Given the description of an element on the screen output the (x, y) to click on. 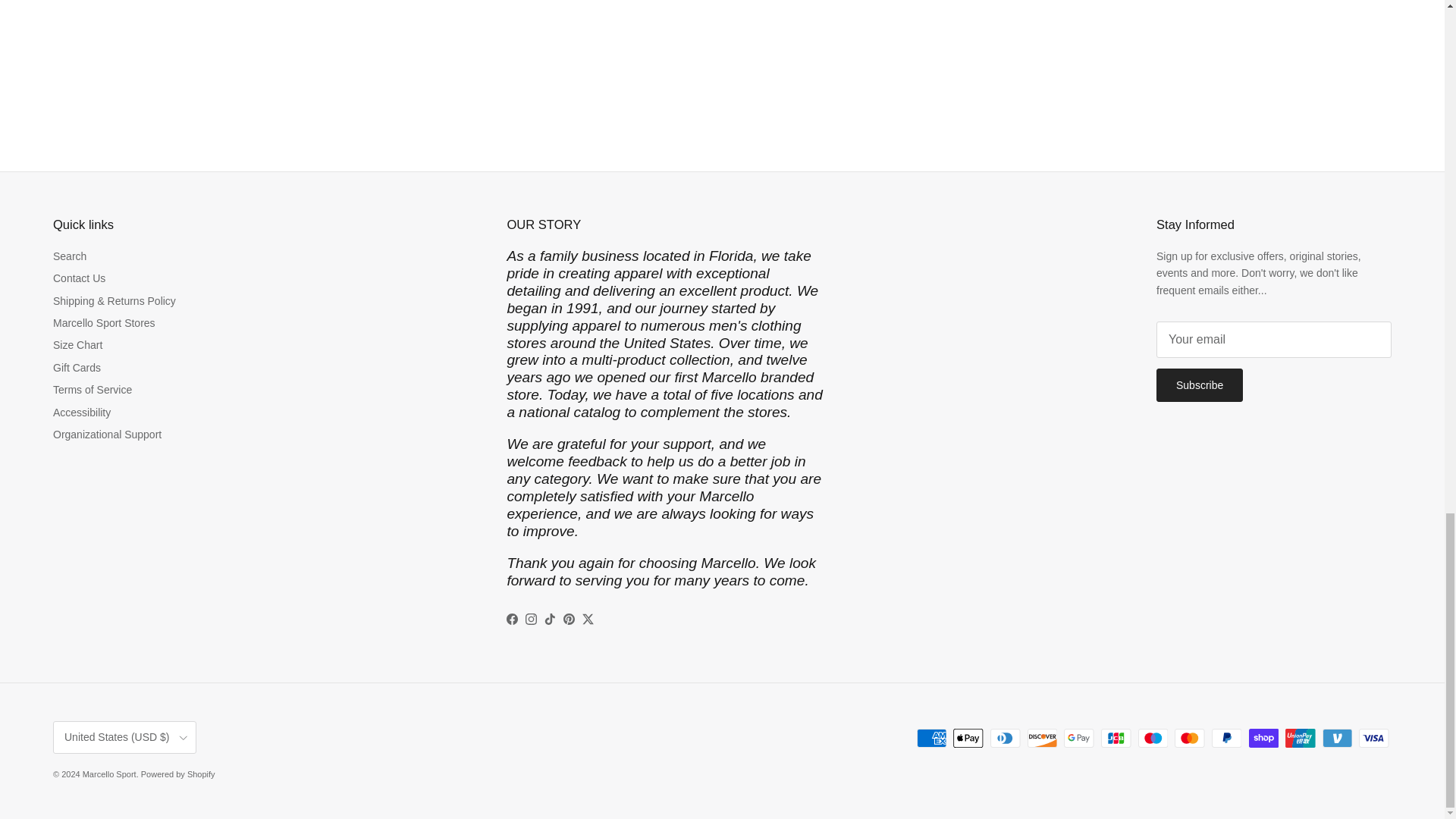
American Express (931, 737)
Marcello Sport on Instagram (531, 618)
Marcello Sport on Facebook (512, 618)
Apple Pay (967, 737)
Marcello Sport on TikTok (550, 618)
Marcello Sport on Twitter (588, 618)
Marcello Sport on Pinterest (569, 618)
